Given the description of an element on the screen output the (x, y) to click on. 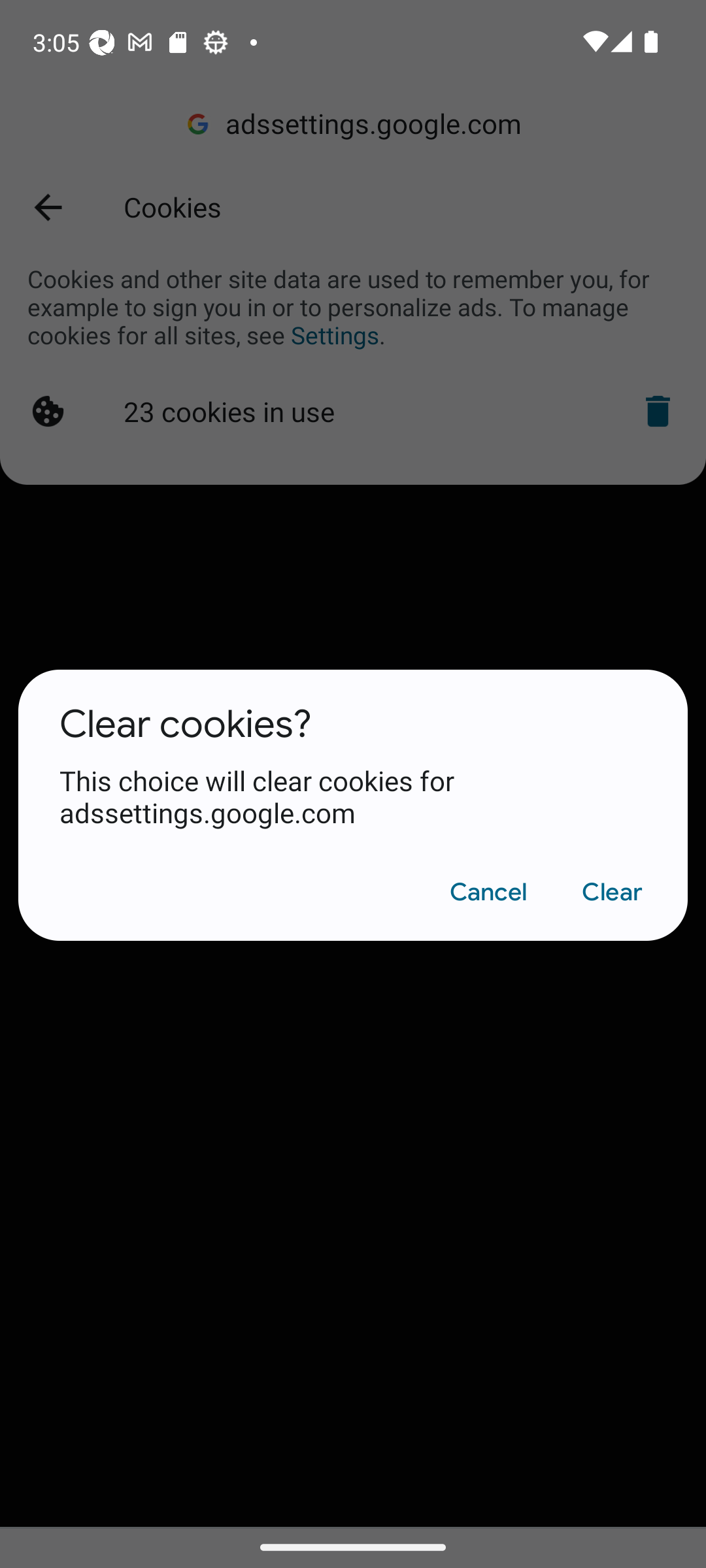
Cancel (487, 891)
Clear (611, 891)
